Given the description of an element on the screen output the (x, y) to click on. 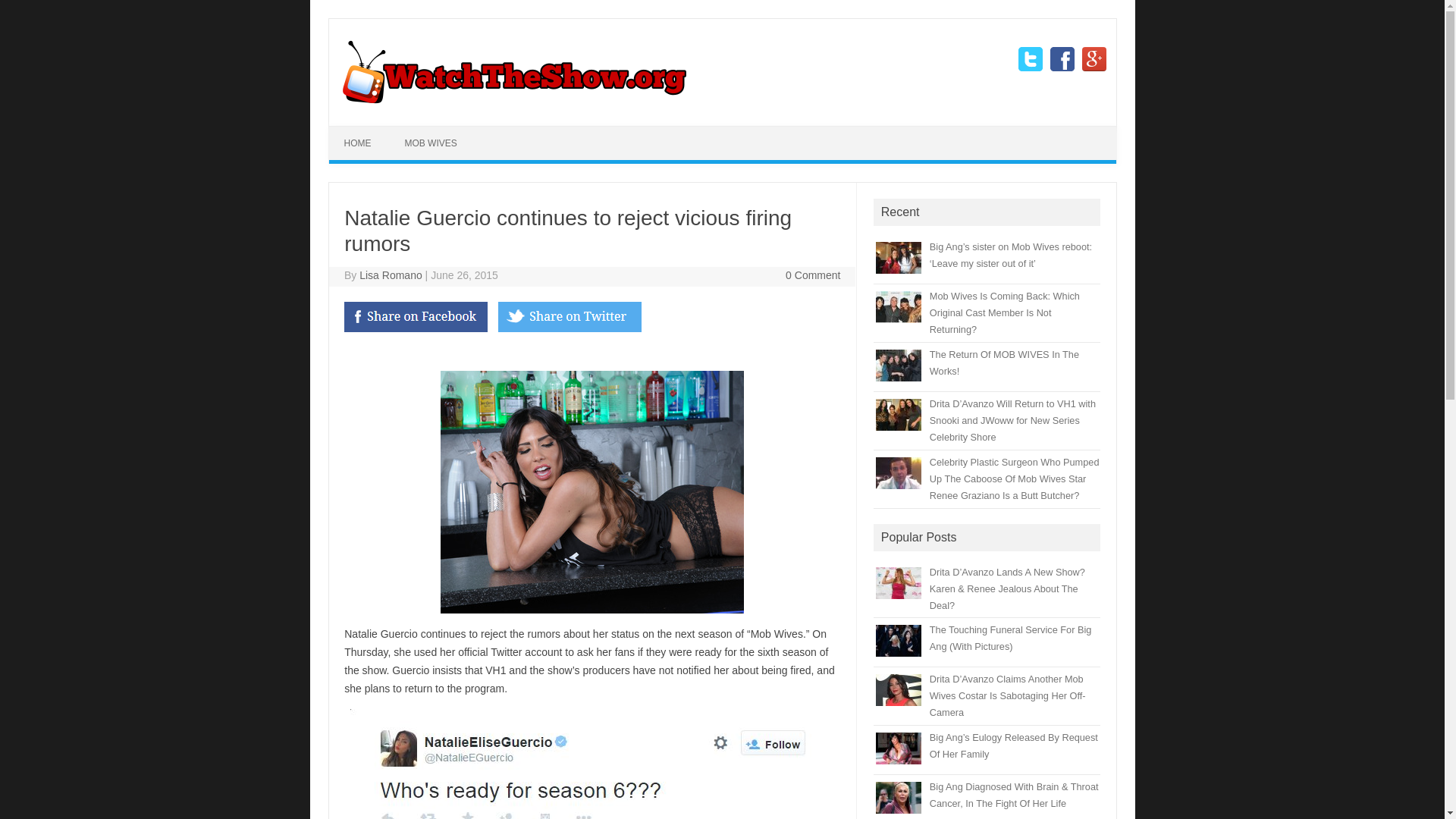
Posts by Lisa Romano (390, 275)
HOME (358, 142)
MOB WIVES (429, 142)
Skip to content (757, 131)
0 Comment (813, 275)
The Return Of MOB WIVES In The Works! (1004, 362)
Watch The Show (512, 100)
Skip to content (757, 131)
Lisa Romano (390, 275)
